Given the description of an element on the screen output the (x, y) to click on. 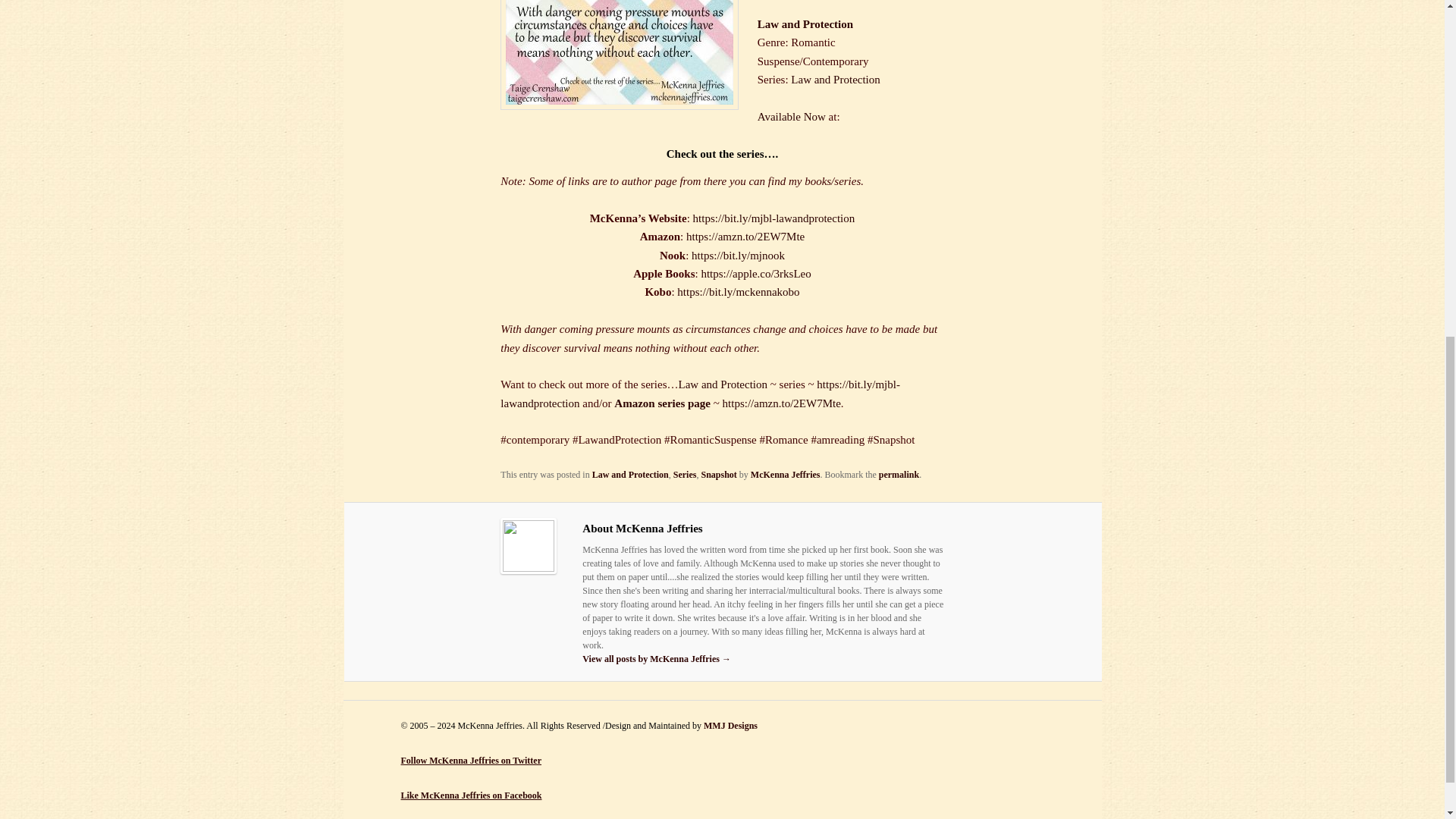
MMJ Designs (730, 725)
McKenna Jeffries (786, 474)
Law and Protection (630, 474)
Series (684, 474)
Snapshot (718, 474)
Follow McKenna Jeffries on Twitter (470, 760)
permalink (898, 474)
Law and Protection (805, 24)
Law and Protection (834, 79)
Law and Protection (722, 384)
